Given the description of an element on the screen output the (x, y) to click on. 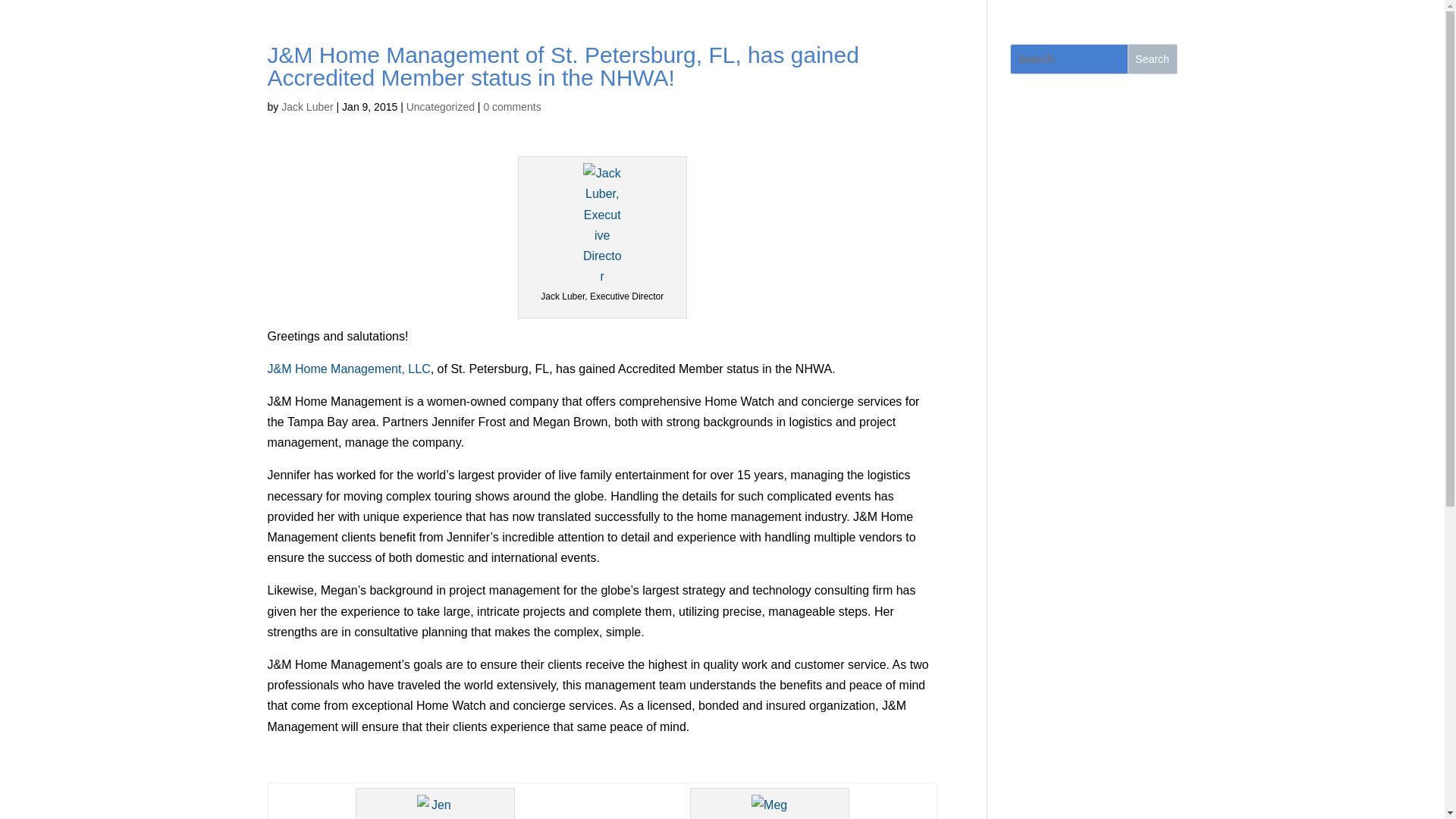
0 comments (511, 106)
Uncategorized (440, 106)
Posts by Jack Luber (307, 106)
Search (1151, 59)
Jack Luber (307, 106)
